Given the description of an element on the screen output the (x, y) to click on. 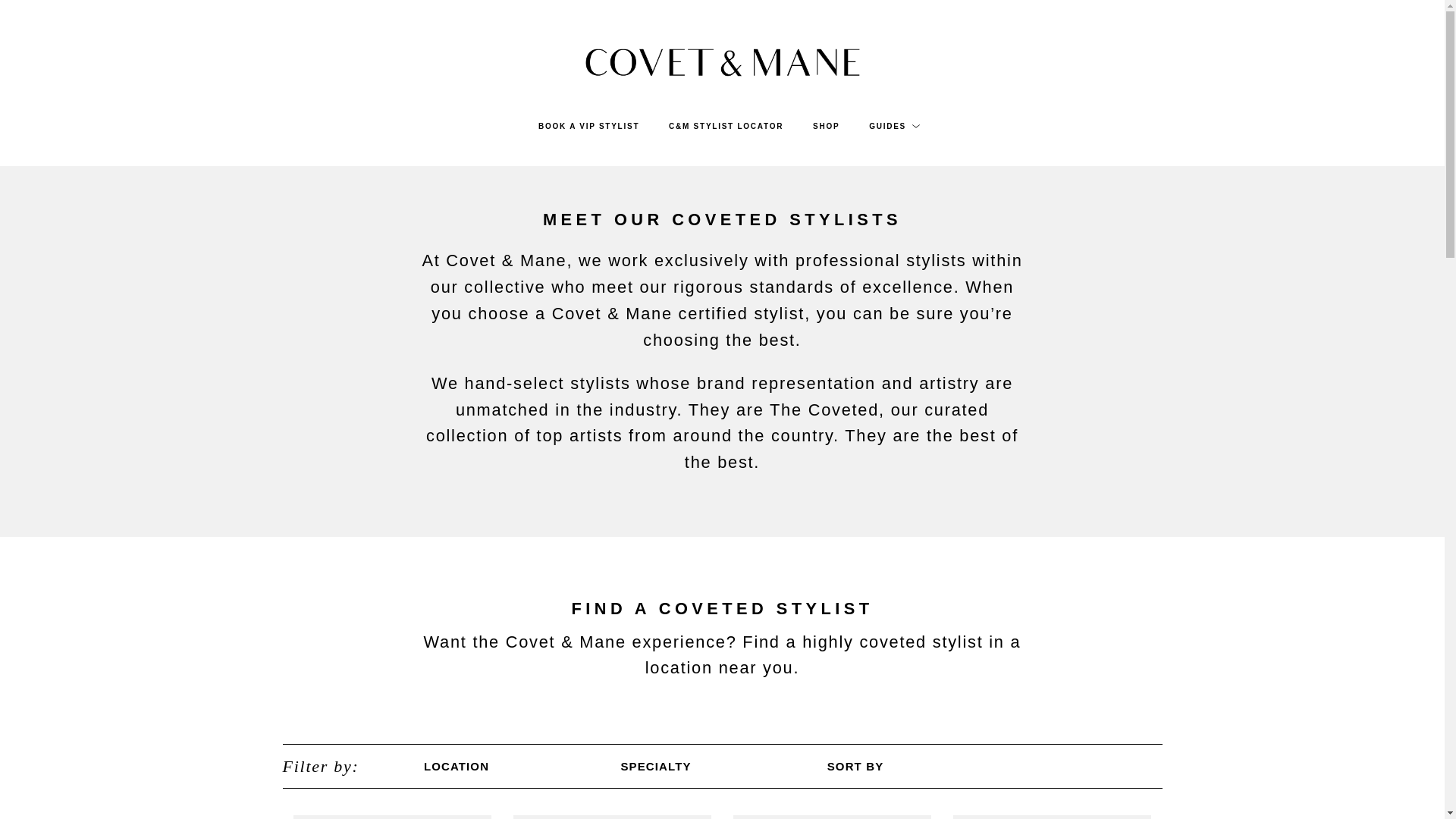
GUIDES (887, 126)
SHOP (826, 126)
BOOK A VIP STYLIST (588, 126)
cart (1388, 33)
